Given the description of an element on the screen output the (x, y) to click on. 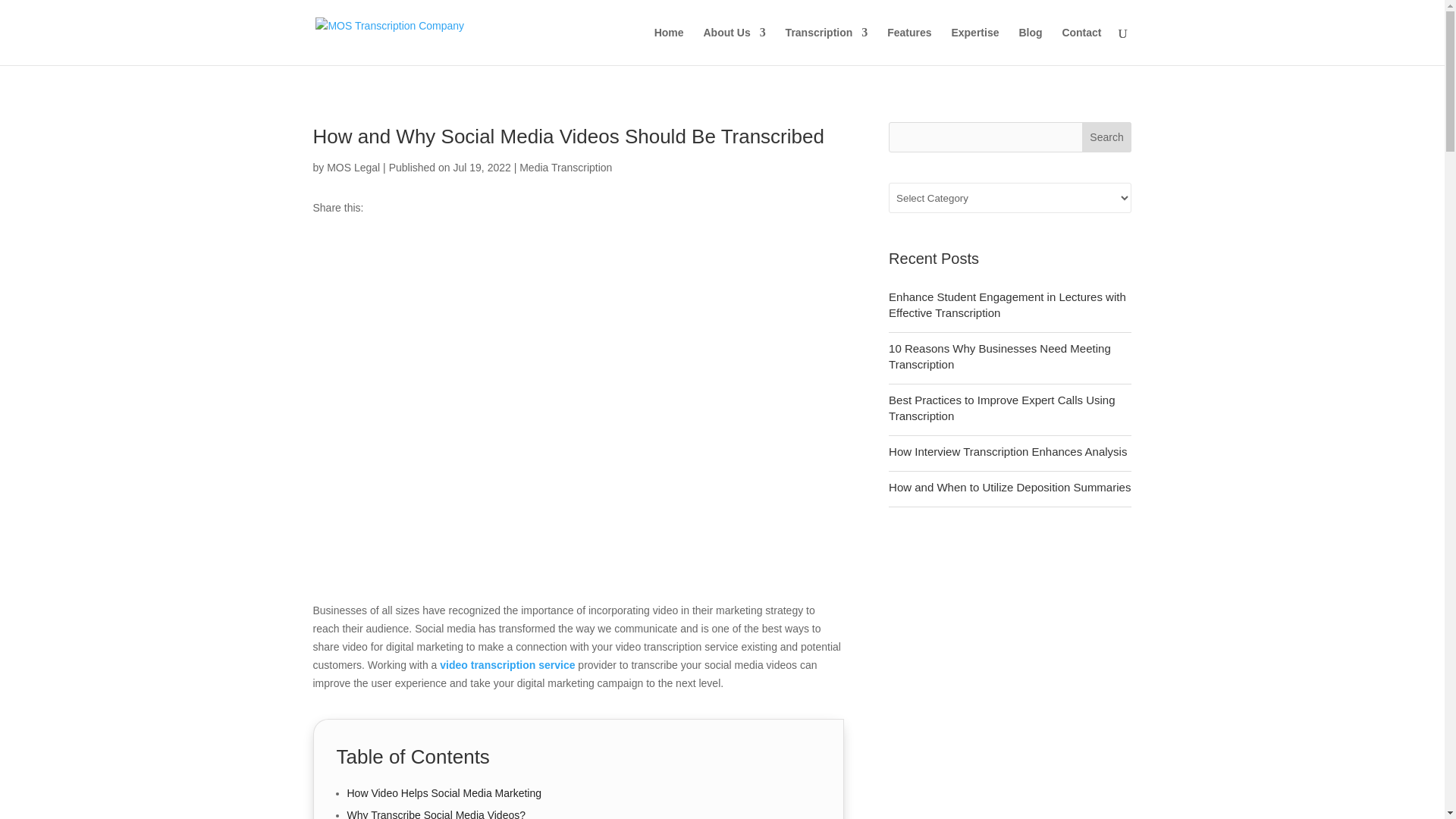
Video Tanscription Service (507, 664)
About Us (734, 46)
Posts by MOS Legal (353, 167)
Transcription (826, 46)
